Given the description of an element on the screen output the (x, y) to click on. 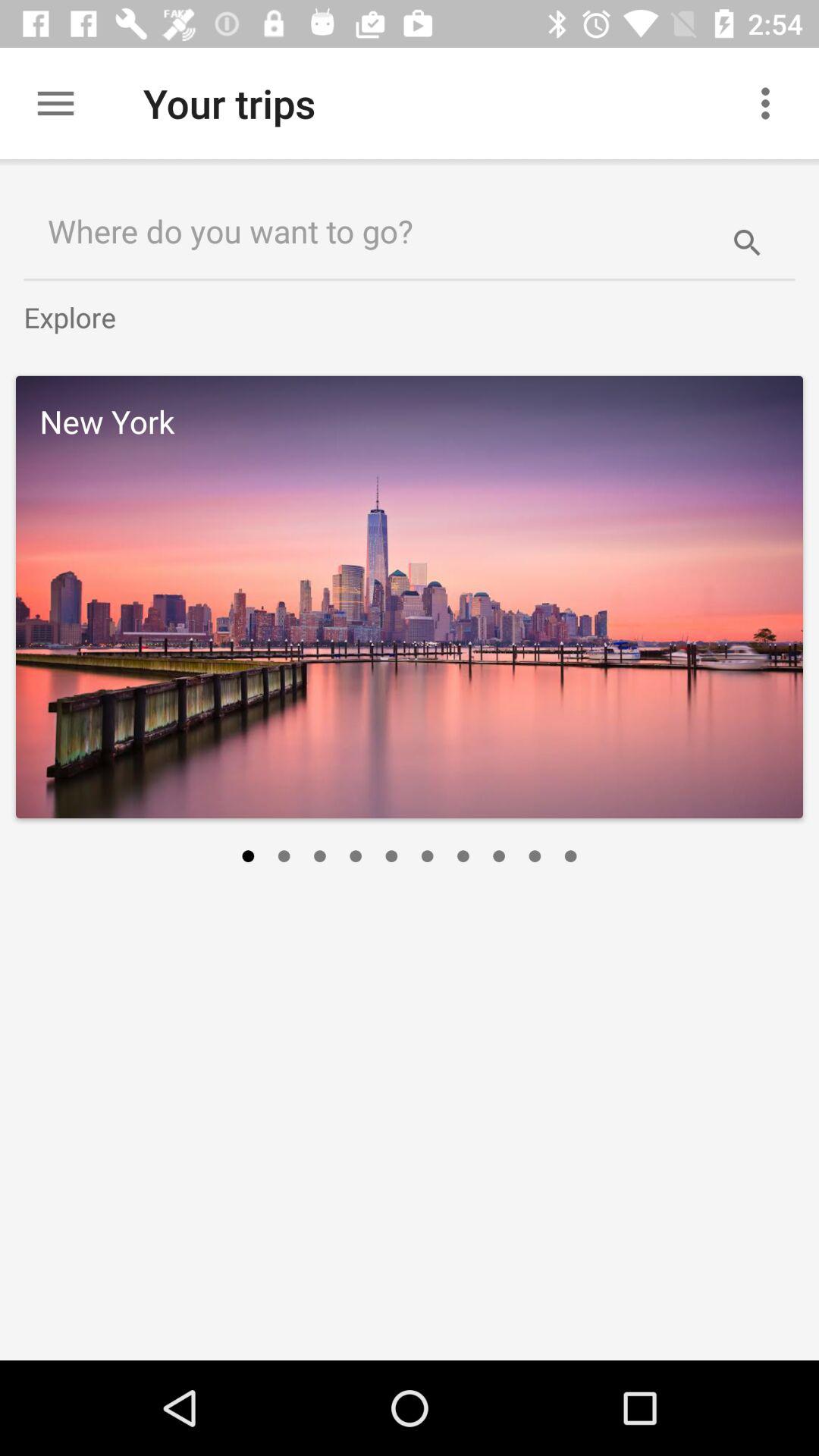
open item to the right of where do you item (747, 230)
